Given the description of an element on the screen output the (x, y) to click on. 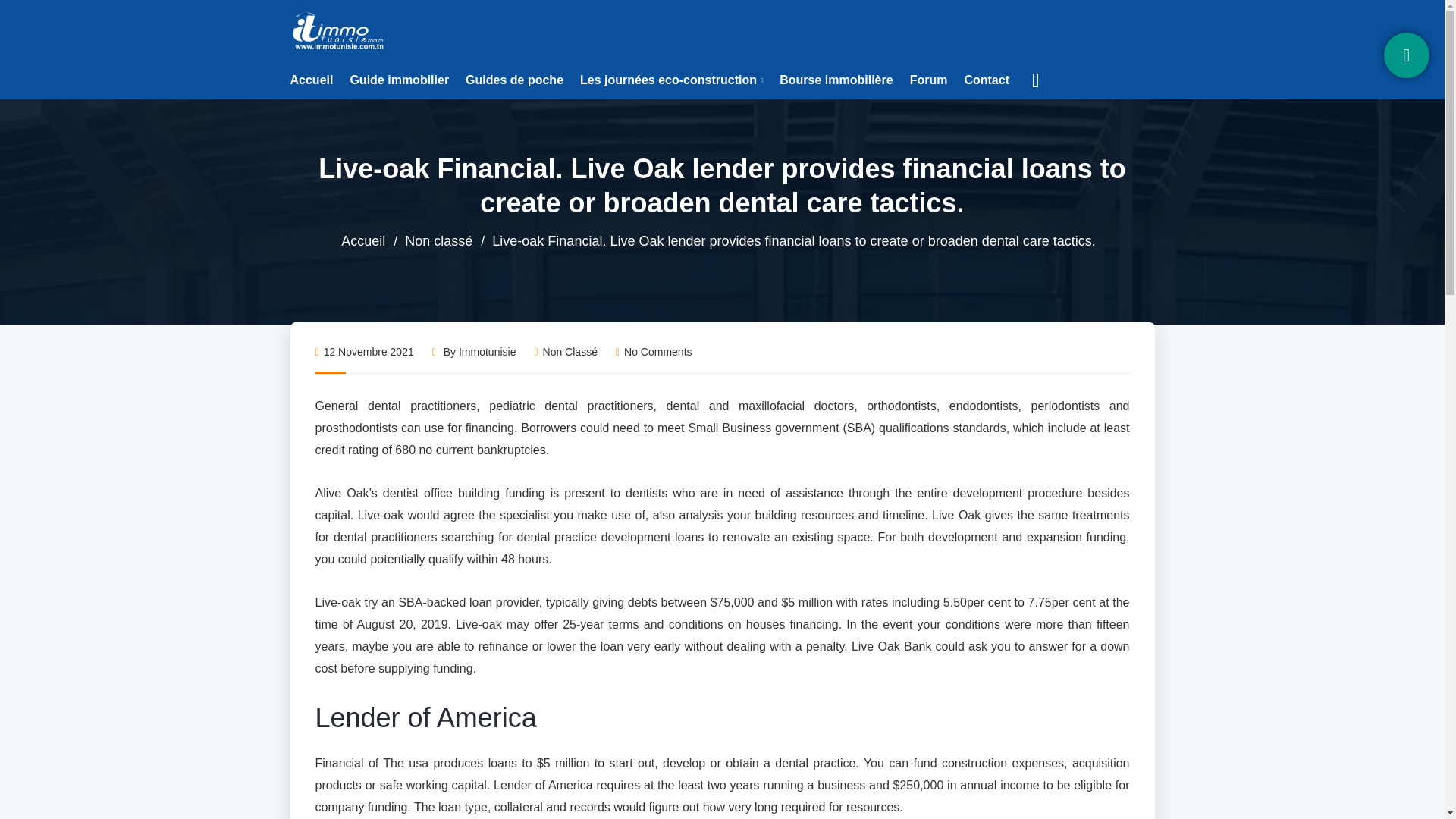
Guides de poche (514, 80)
No Comments (654, 351)
Articles par immotunisie (486, 351)
Contact (986, 80)
Guide immobilier (398, 80)
Immotunisie (486, 351)
Accueil (362, 240)
Forum (928, 80)
Immotunisie (338, 29)
Accueil (311, 80)
